Given the description of an element on the screen output the (x, y) to click on. 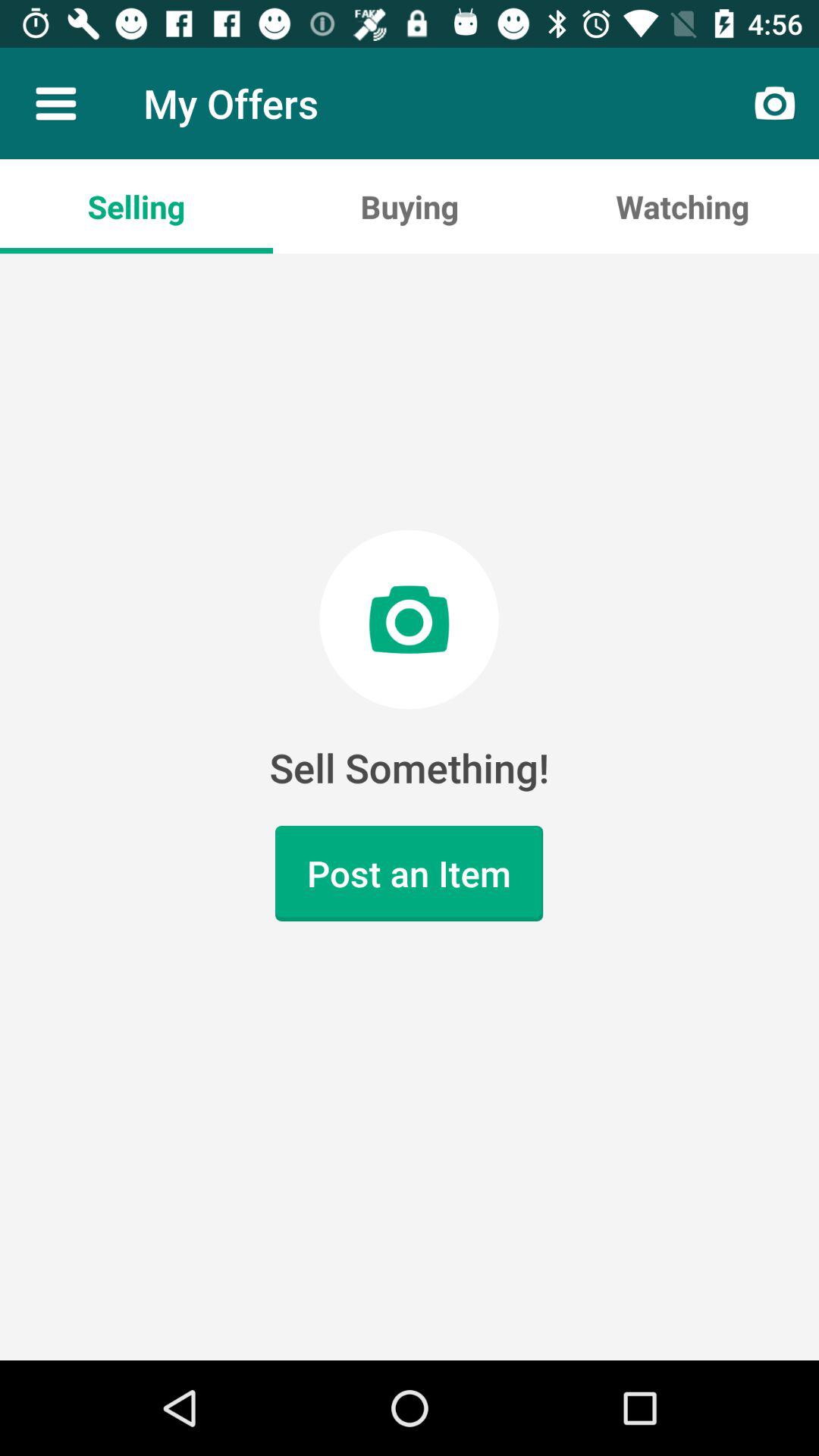
select app to the right of buying icon (682, 206)
